Given the description of an element on the screen output the (x, y) to click on. 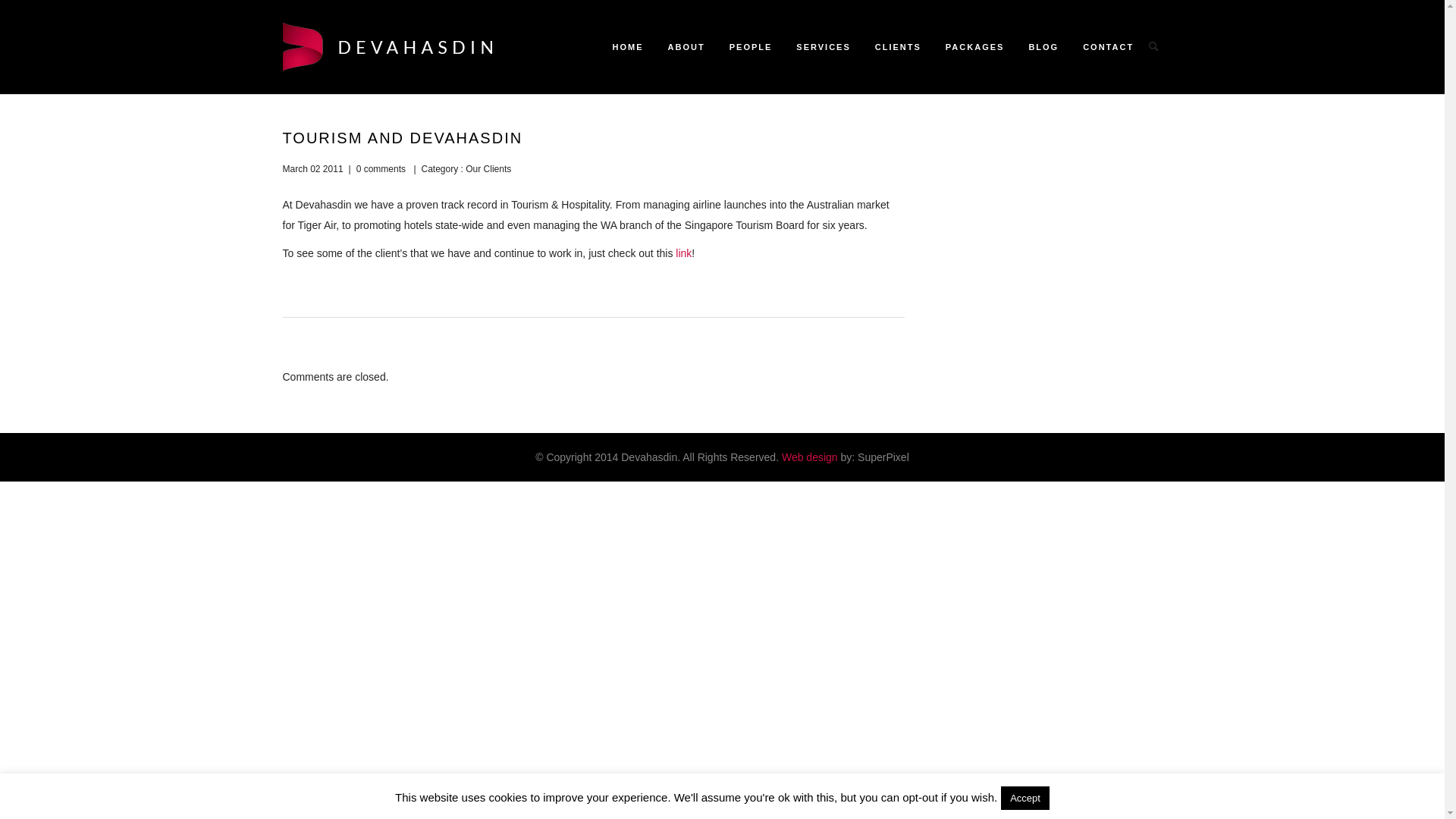
SERVICES Element type: text (823, 46)
HOME Element type: text (627, 46)
BLOG Element type: text (1043, 46)
0 comments Element type: text (380, 168)
link Element type: text (683, 253)
CONTACT Element type: text (1101, 46)
PEOPLE Element type: text (750, 46)
Web design Element type: text (809, 457)
PACKAGES Element type: text (974, 46)
Our Clients Element type: text (487, 168)
Accept Element type: text (1025, 797)
TOURISM AND DEVAHASDIN Element type: text (402, 137)
ABOUT Element type: text (686, 46)
CLIENTS Element type: text (897, 46)
